Given the description of an element on the screen output the (x, y) to click on. 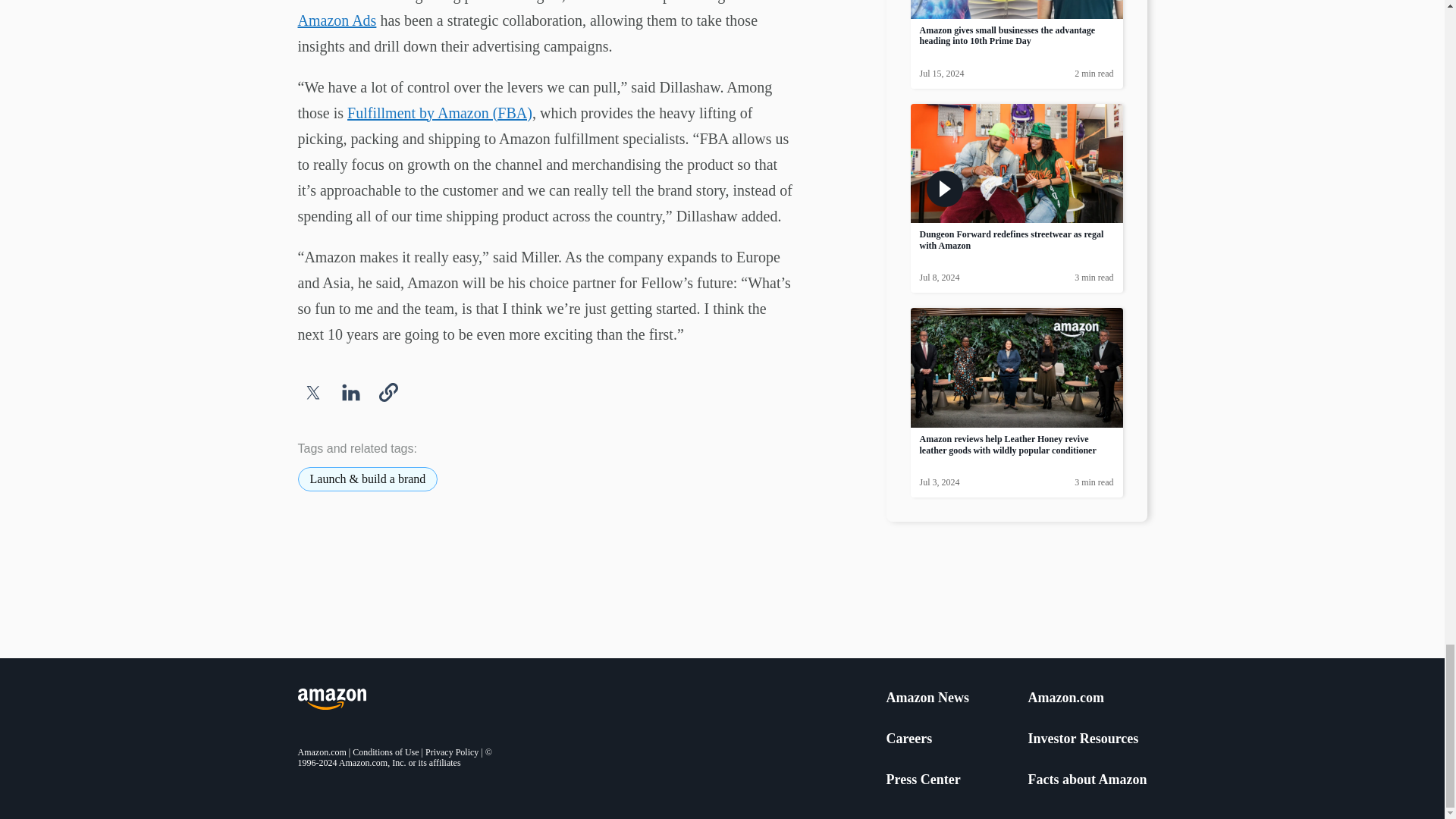
Amazon.com (1065, 697)
Careers (908, 738)
Amazon.com (321, 751)
Twitter (312, 392)
Conditions of Use (385, 751)
Privacy Policy (452, 751)
Investor Resources (1082, 738)
Amazon News (927, 697)
LinkedIn (349, 392)
Amazon Ads (336, 20)
Press Center (922, 779)
